Given the description of an element on the screen output the (x, y) to click on. 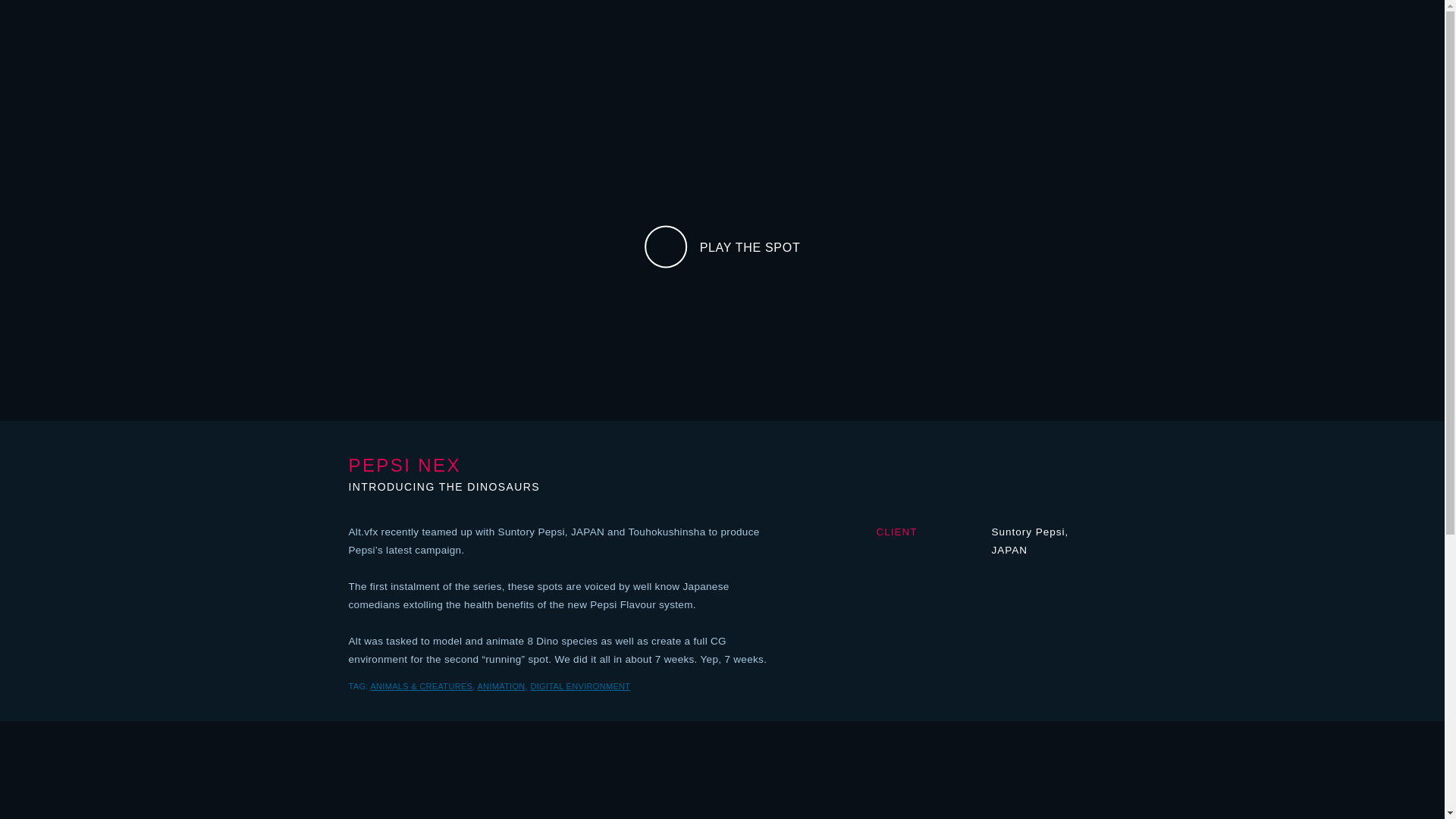
Prev (270, 6)
Alt.VFX (721, 31)
Prev (1173, 6)
